Given the description of an element on the screen output the (x, y) to click on. 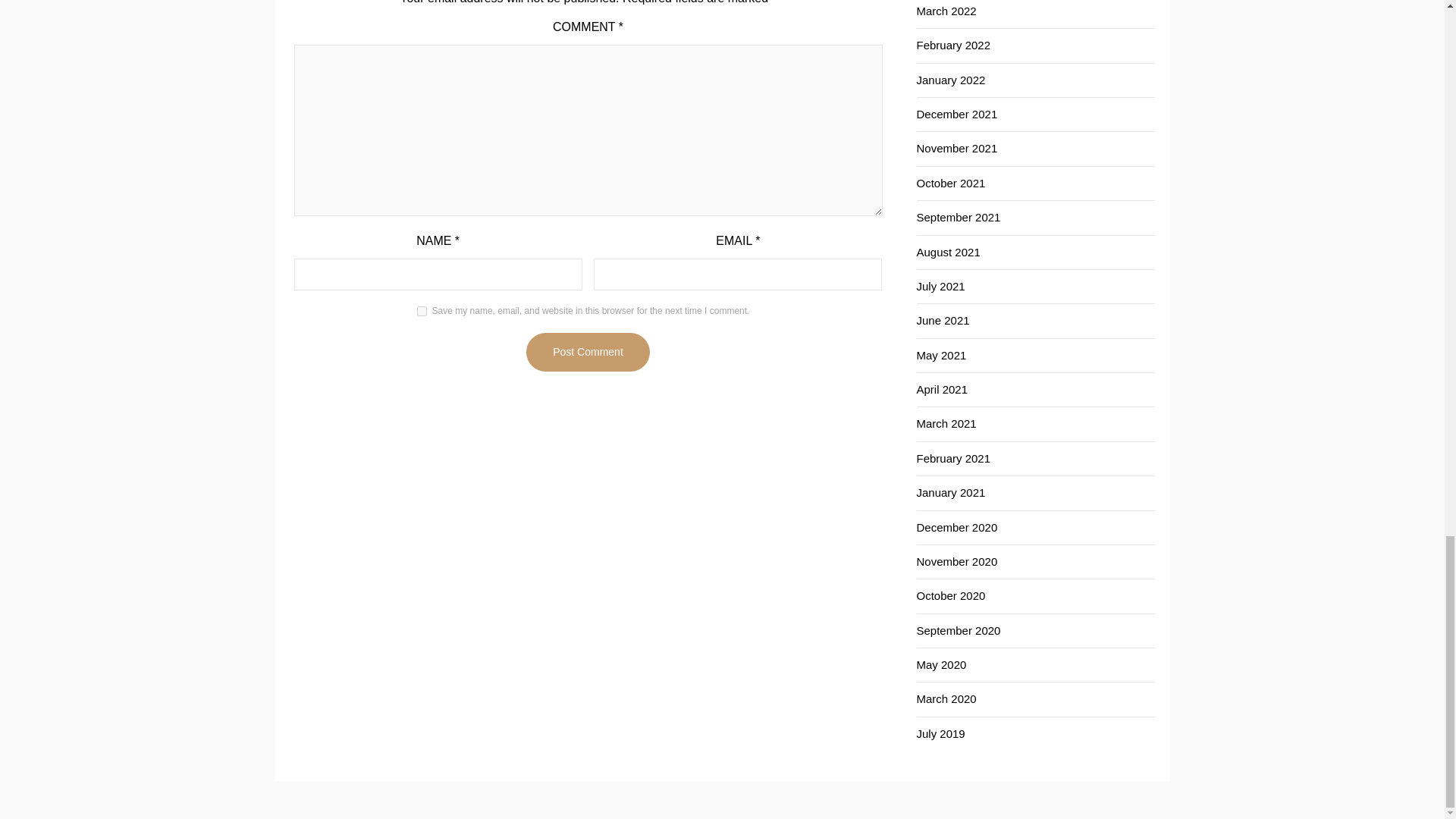
Post Comment (587, 351)
February 2022 (952, 44)
March 2022 (945, 10)
Post Comment (587, 351)
yes (421, 311)
January 2022 (950, 79)
